Given the description of an element on the screen output the (x, y) to click on. 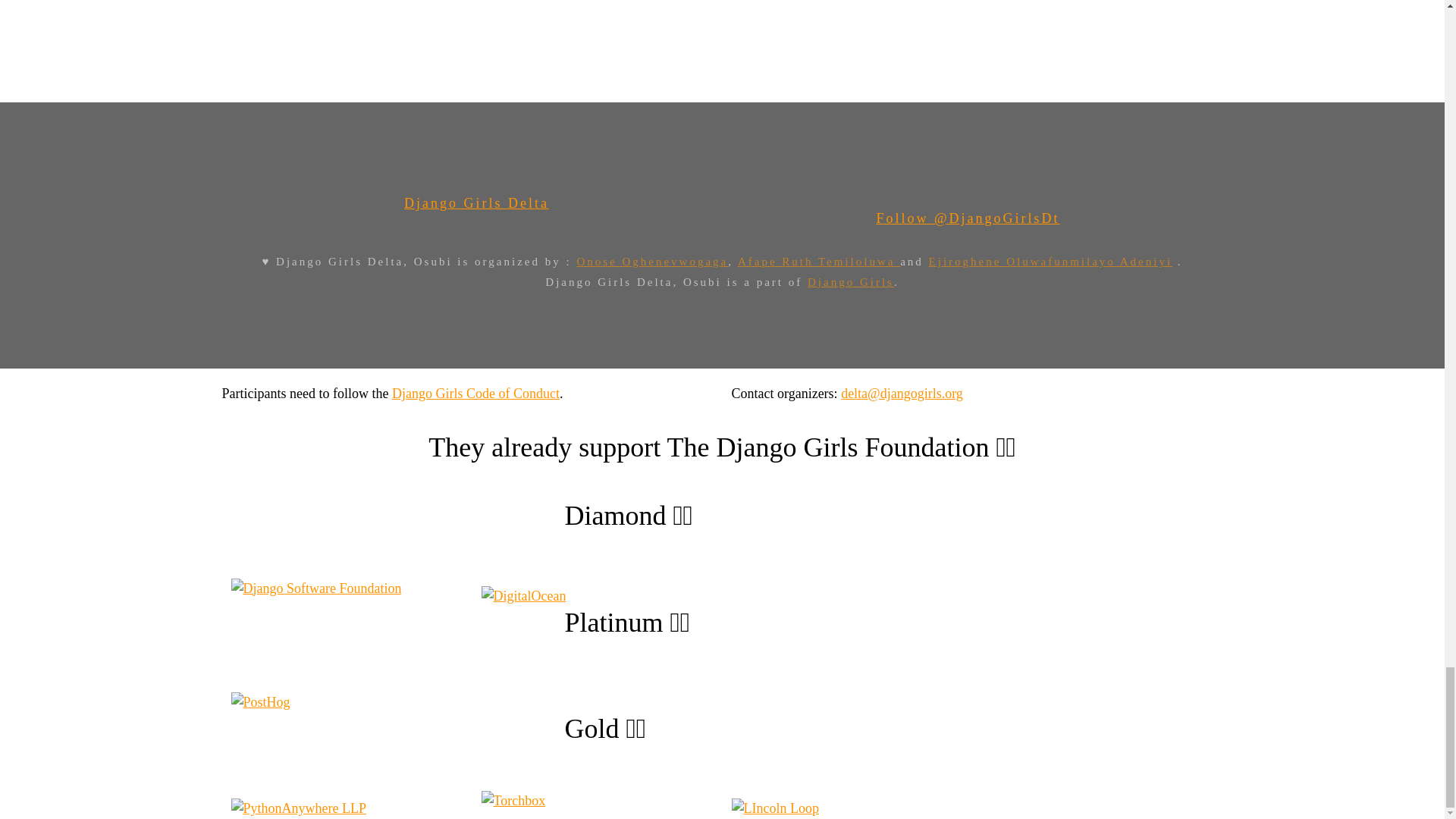
Django Girls Delta (476, 202)
Onose Oghenevwogaga (652, 261)
Ejiroghene Oluwafunmilayo Adeniyi (1050, 261)
Django Girls Code of Conduct (475, 393)
Afape Ruth Temiloluwa (818, 261)
Django Girls (850, 282)
